Given the description of an element on the screen output the (x, y) to click on. 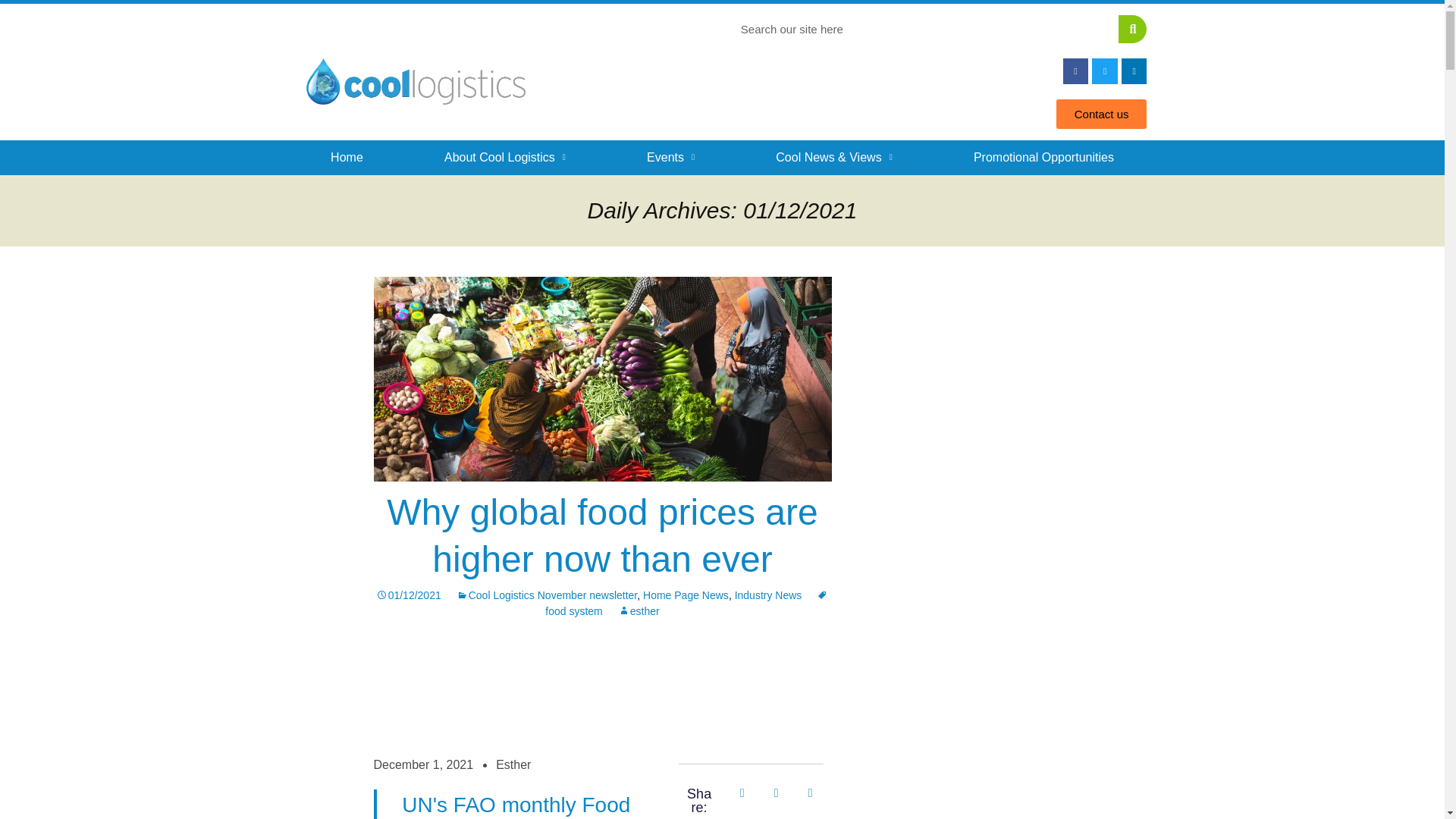
About Cool Logistics (504, 157)
Events (671, 157)
Home (346, 157)
Permalink to Why global food prices are higher now than ever (408, 594)
Contact us (1102, 113)
Promotional Opportunities (1043, 157)
View all posts by esther (638, 611)
